Given the description of an element on the screen output the (x, y) to click on. 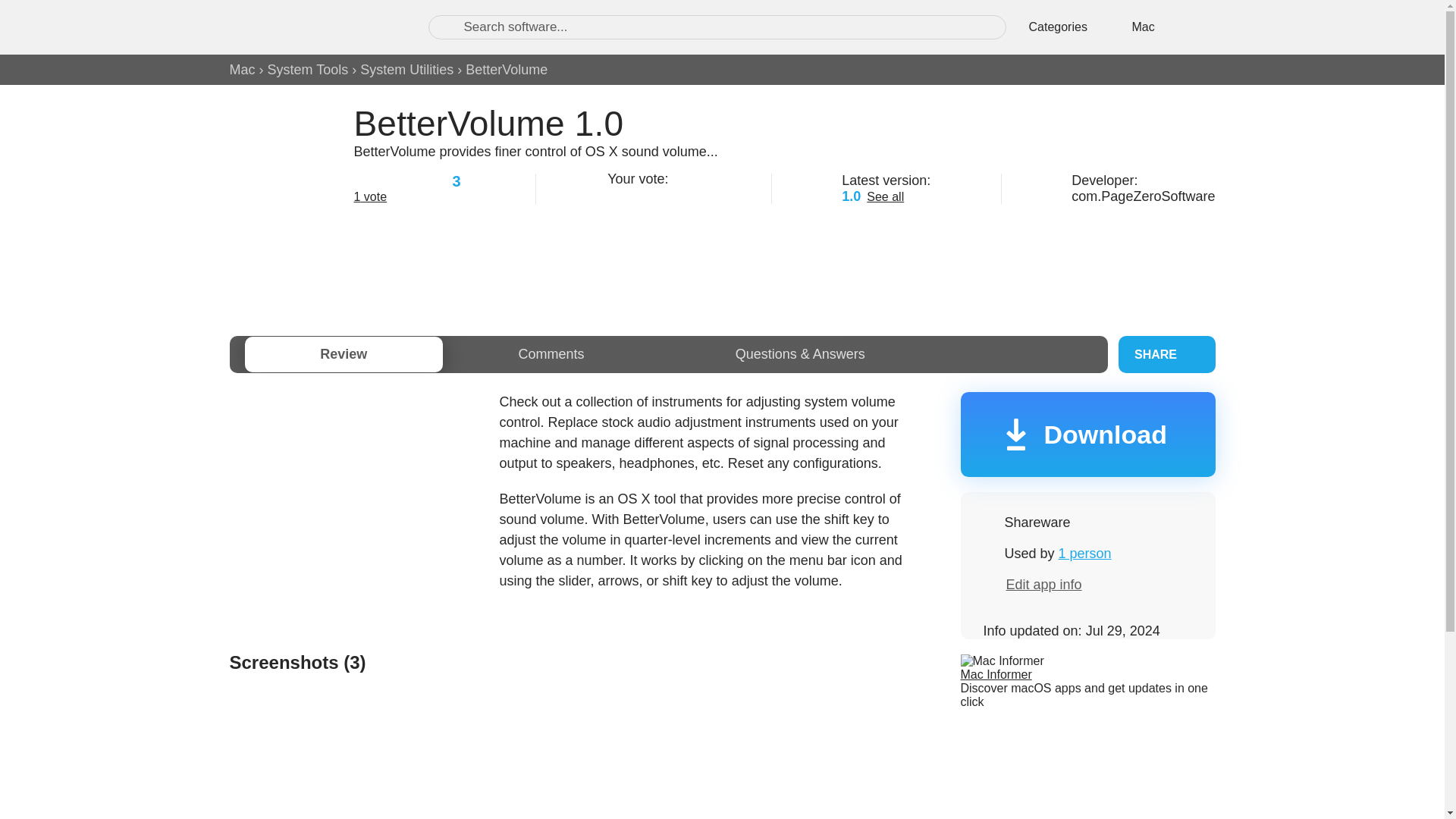
System Utilities (405, 69)
System Tools (308, 69)
BetterVolume (506, 69)
Software downloads and reviews (312, 26)
SHARE (1166, 354)
Advertisement (721, 267)
Review (343, 354)
Download BetterVolume (1086, 434)
Comments (550, 354)
Search software... (717, 27)
See all (885, 195)
1 person (1085, 553)
Comments (550, 354)
